Given the description of an element on the screen output the (x, y) to click on. 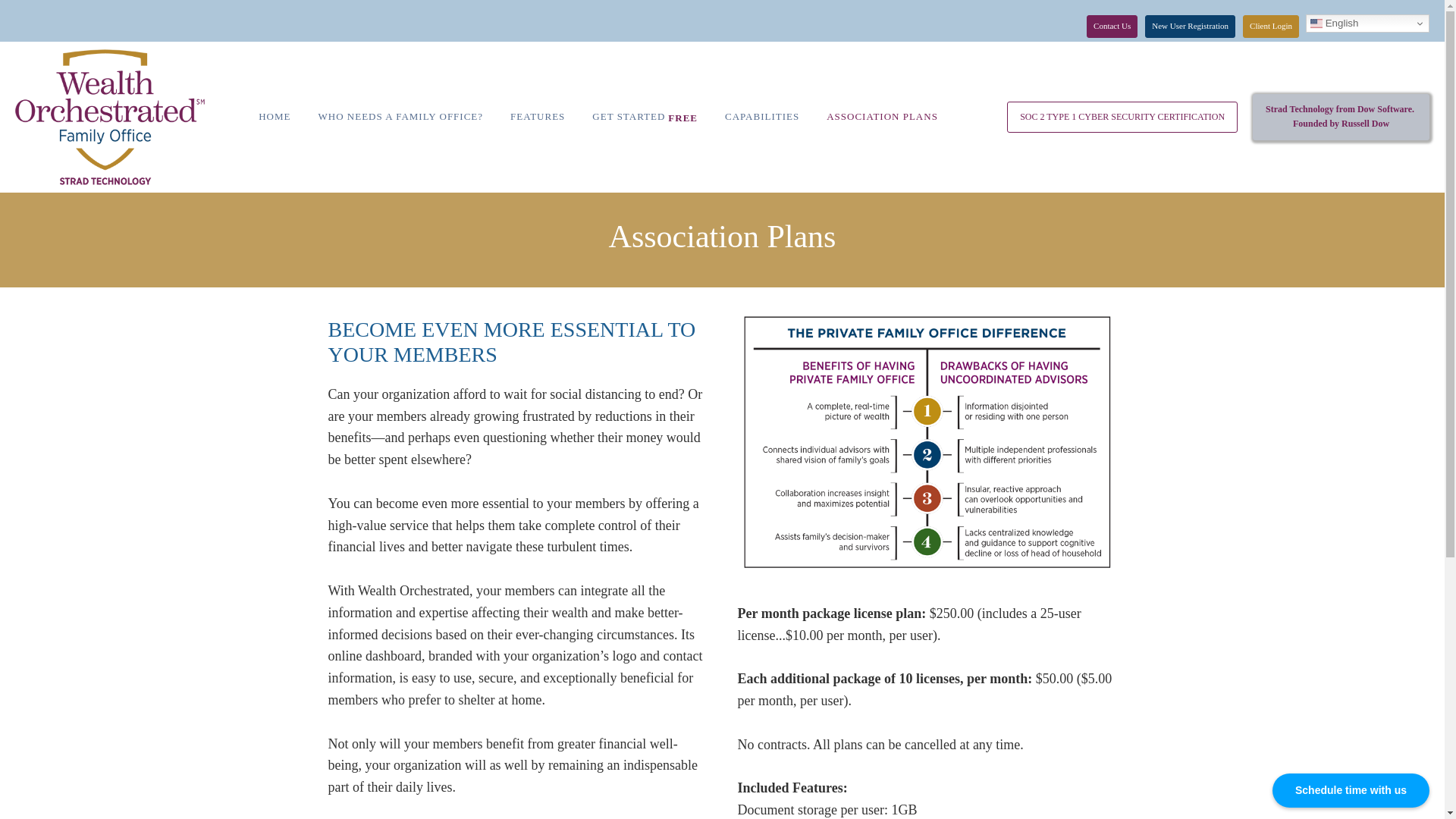
Client Login (1270, 26)
New User Registration (1189, 26)
CAPABILITIES (761, 116)
FEATURES (537, 116)
HOME (274, 116)
English (1367, 23)
SOC 2 TYPE 1 CYBER SECURITY CERTIFICATION (1122, 116)
ASSOCIATION PLANS (882, 116)
Contact Us (1340, 116)
WHO NEEDS A FAMILY OFFICE? (1111, 26)
